Given the description of an element on the screen output the (x, y) to click on. 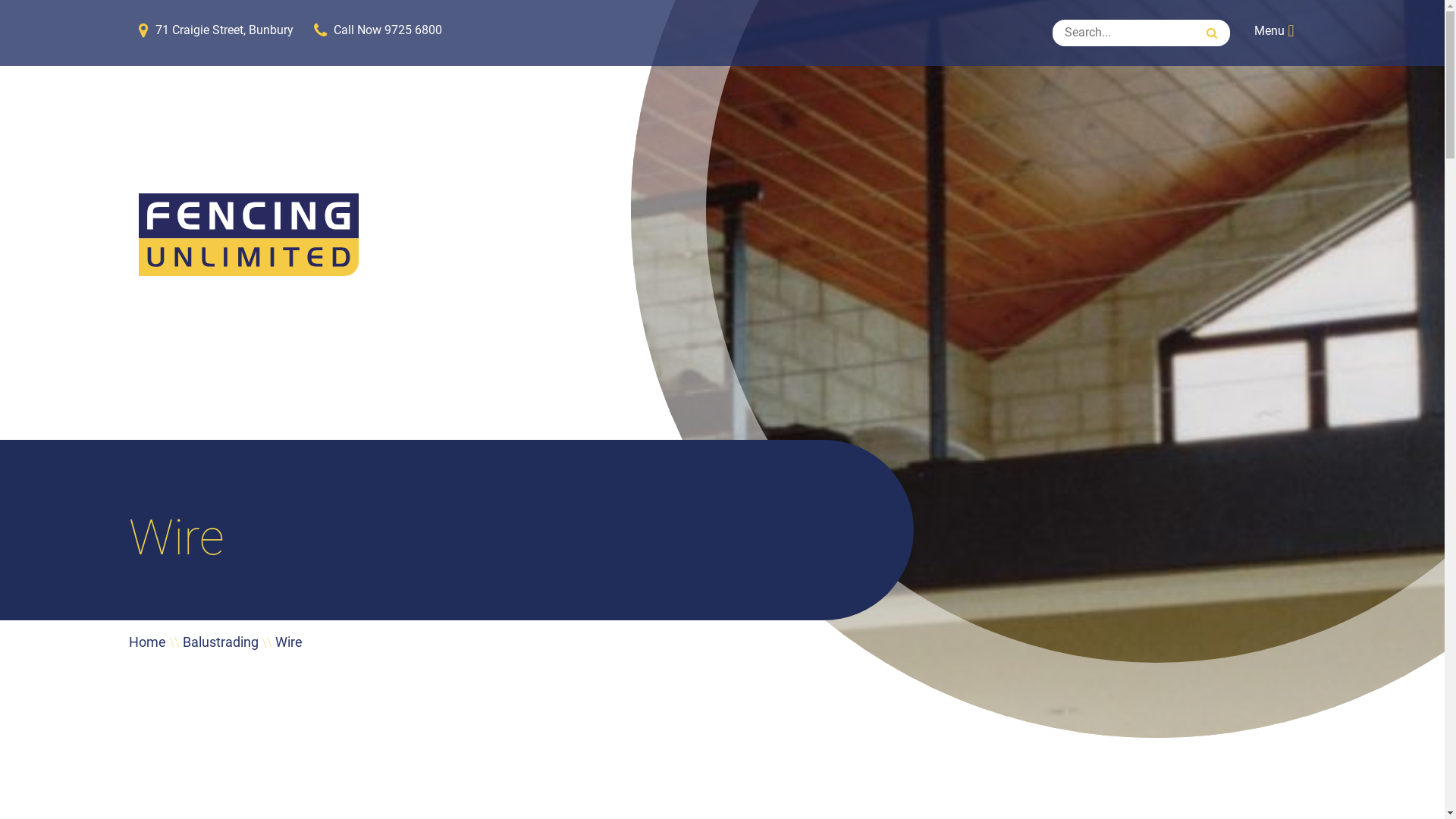
Home Element type: text (147, 641)
Call Now 9725 6800 Element type: text (377, 29)
Wire Element type: text (288, 641)
71 Craigie Street, Bunbury Element type: text (215, 29)
Balustrading Element type: text (220, 641)
